Given the description of an element on the screen output the (x, y) to click on. 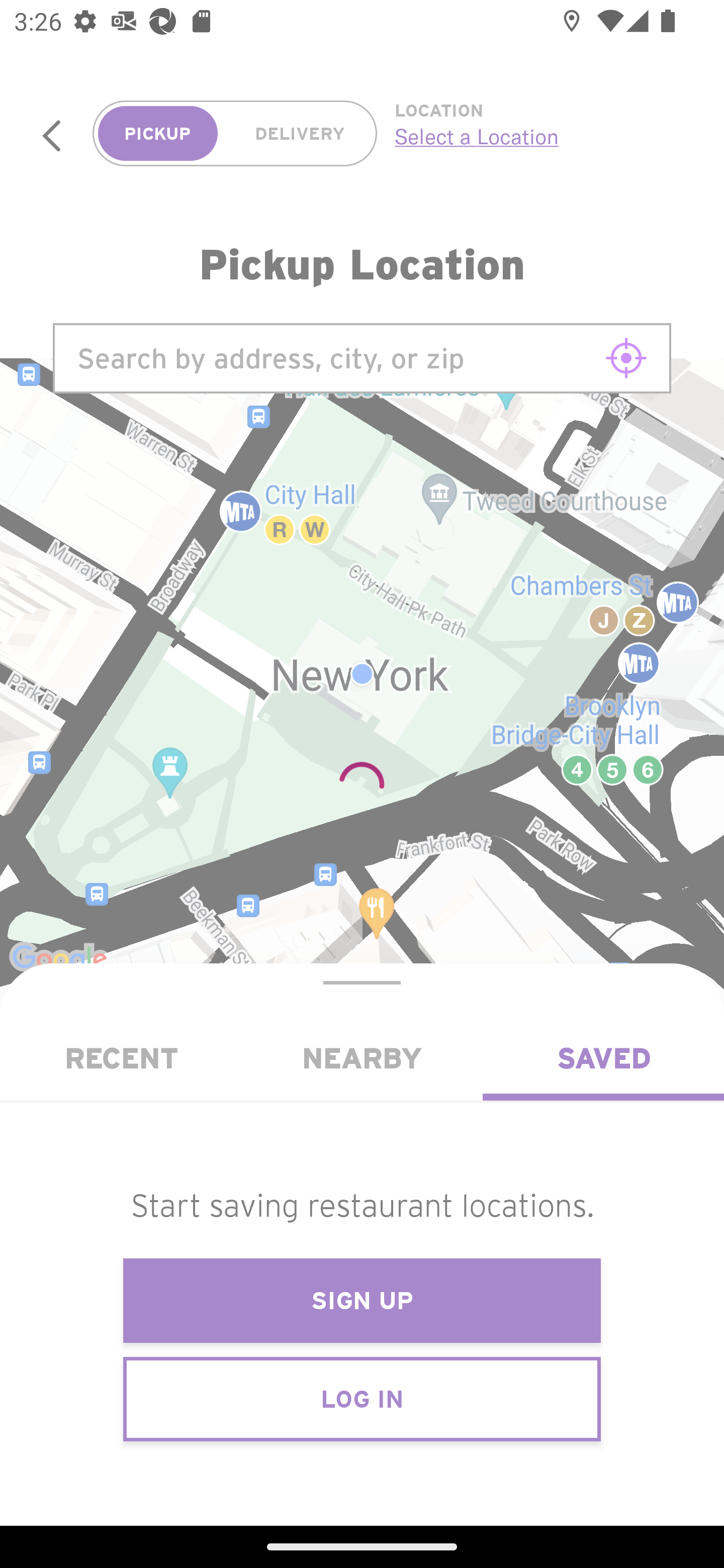
PICKUP (157, 133)
DELIVERY (299, 133)
Select a Location (536, 136)
Search by address, city, or zip (361, 358)
Google Map (362, 674)
Recent RECENT (120, 1058)
Nearby NEARBY (361, 1058)
SIGN UP (361, 1300)
LOG IN (361, 1398)
